Given the description of an element on the screen output the (x, y) to click on. 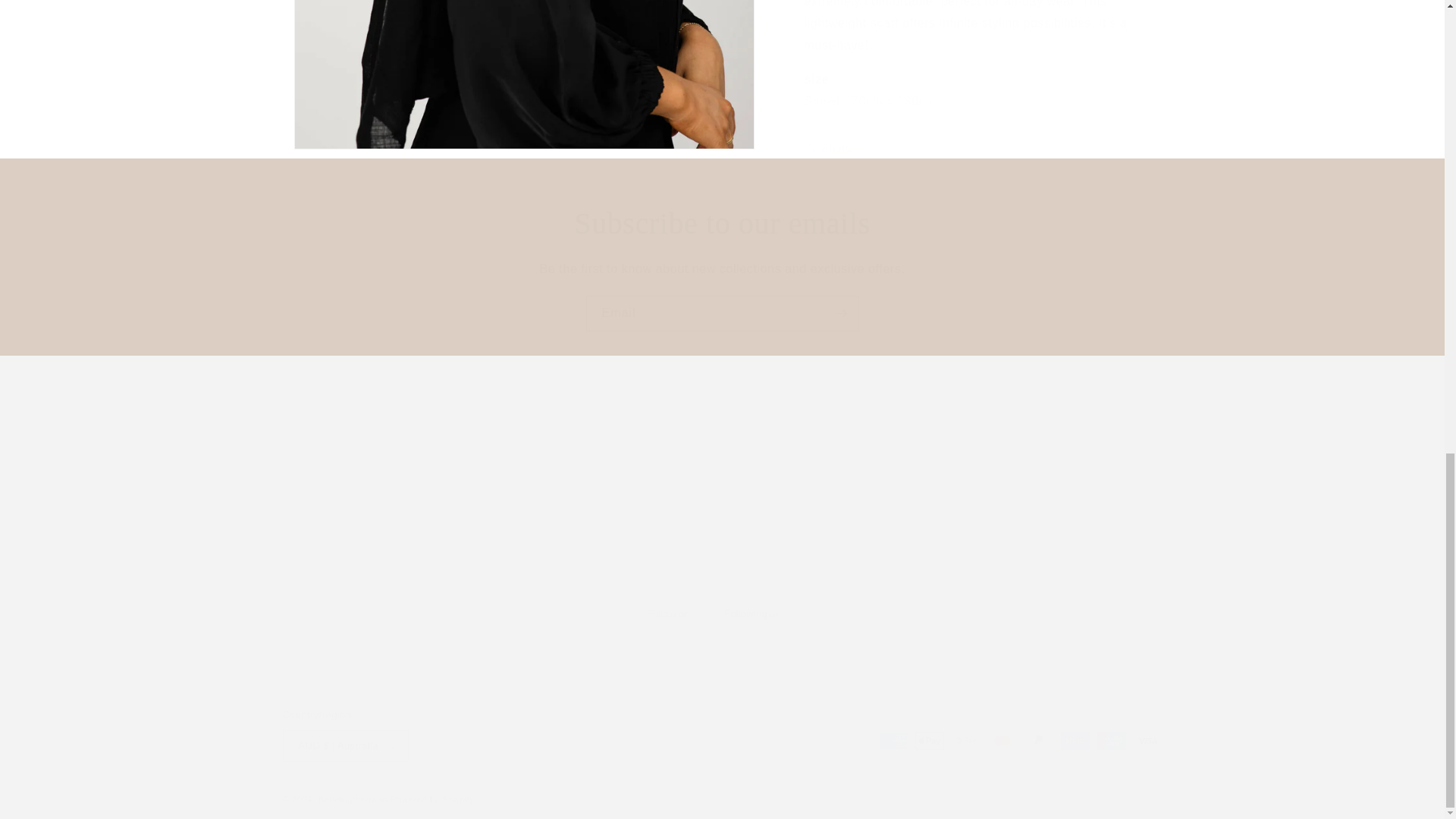
Subscribe to our emails (722, 513)
Email (721, 223)
